Given the description of an element on the screen output the (x, y) to click on. 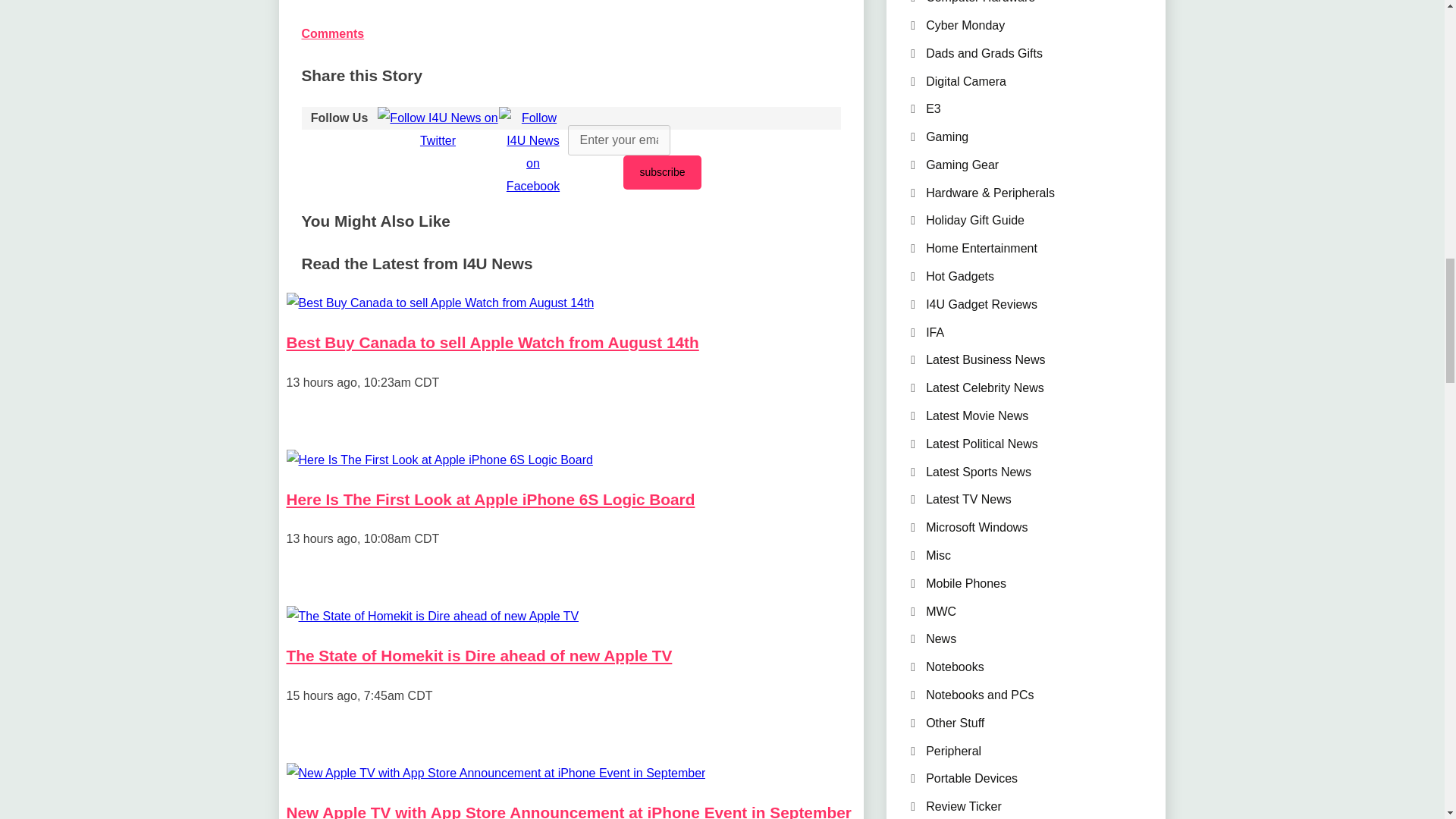
The State of Homekit is Dire ahead of new Apple TV (479, 655)
Here Is The First Look at Apple iPhone 6S Logic Board (490, 498)
Nowhereelse (439, 459)
Enter your email here. (618, 140)
Best Buy Canada to sell Apple Watch from August 14th (492, 342)
Comments (333, 33)
subscribe (662, 172)
subscribe (662, 172)
